Given the description of an element on the screen output the (x, y) to click on. 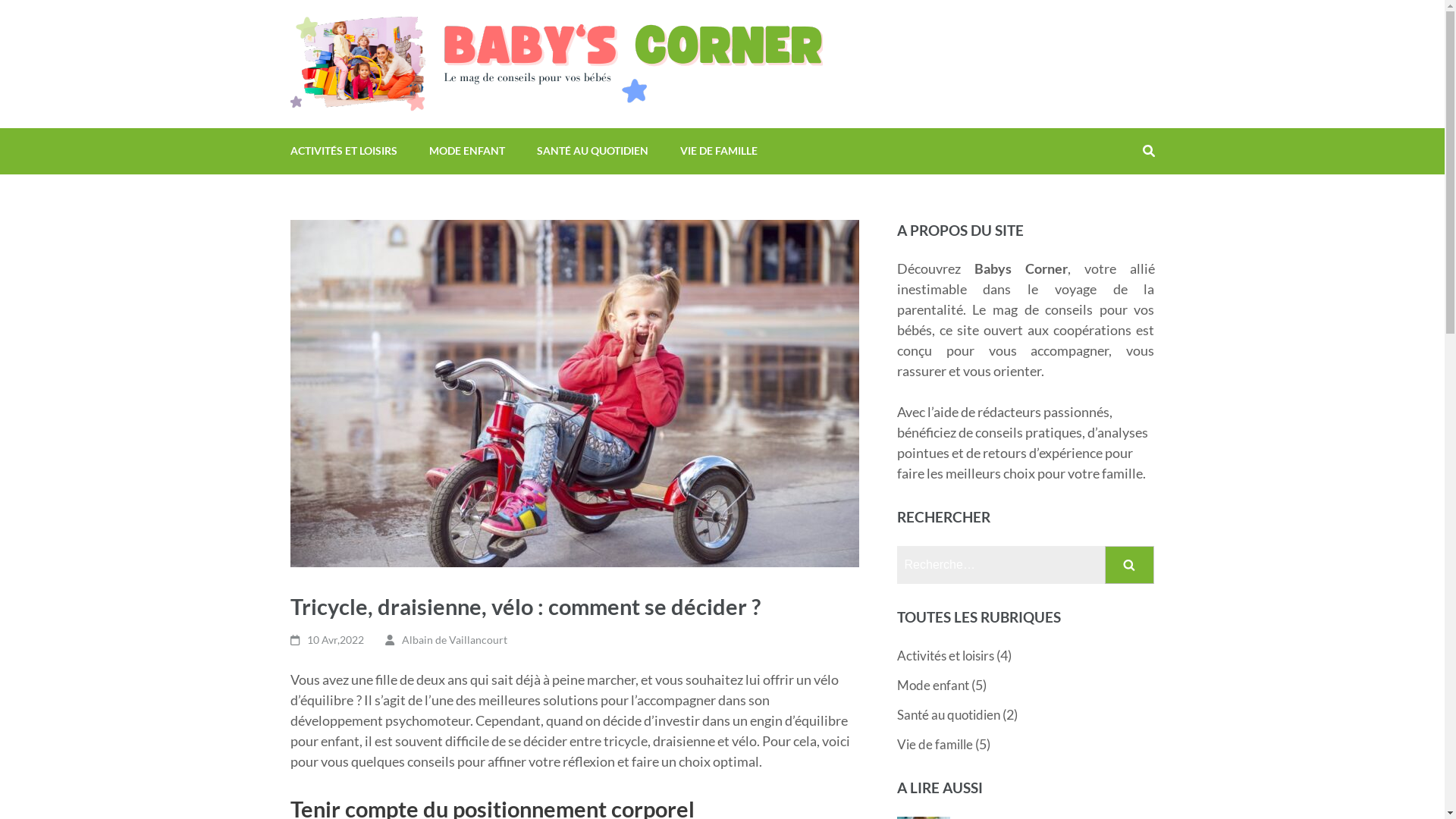
Vie de famille Element type: text (934, 744)
Mode enfant Element type: text (933, 685)
Albain de Vaillancourt Element type: text (454, 639)
VIE DE FAMILLE Element type: text (717, 151)
MODE ENFANT Element type: text (467, 151)
Rechercher Element type: text (1129, 564)
10 Avr,2022 Element type: text (335, 639)
Babys Corner Element type: text (893, 25)
